Given the description of an element on the screen output the (x, y) to click on. 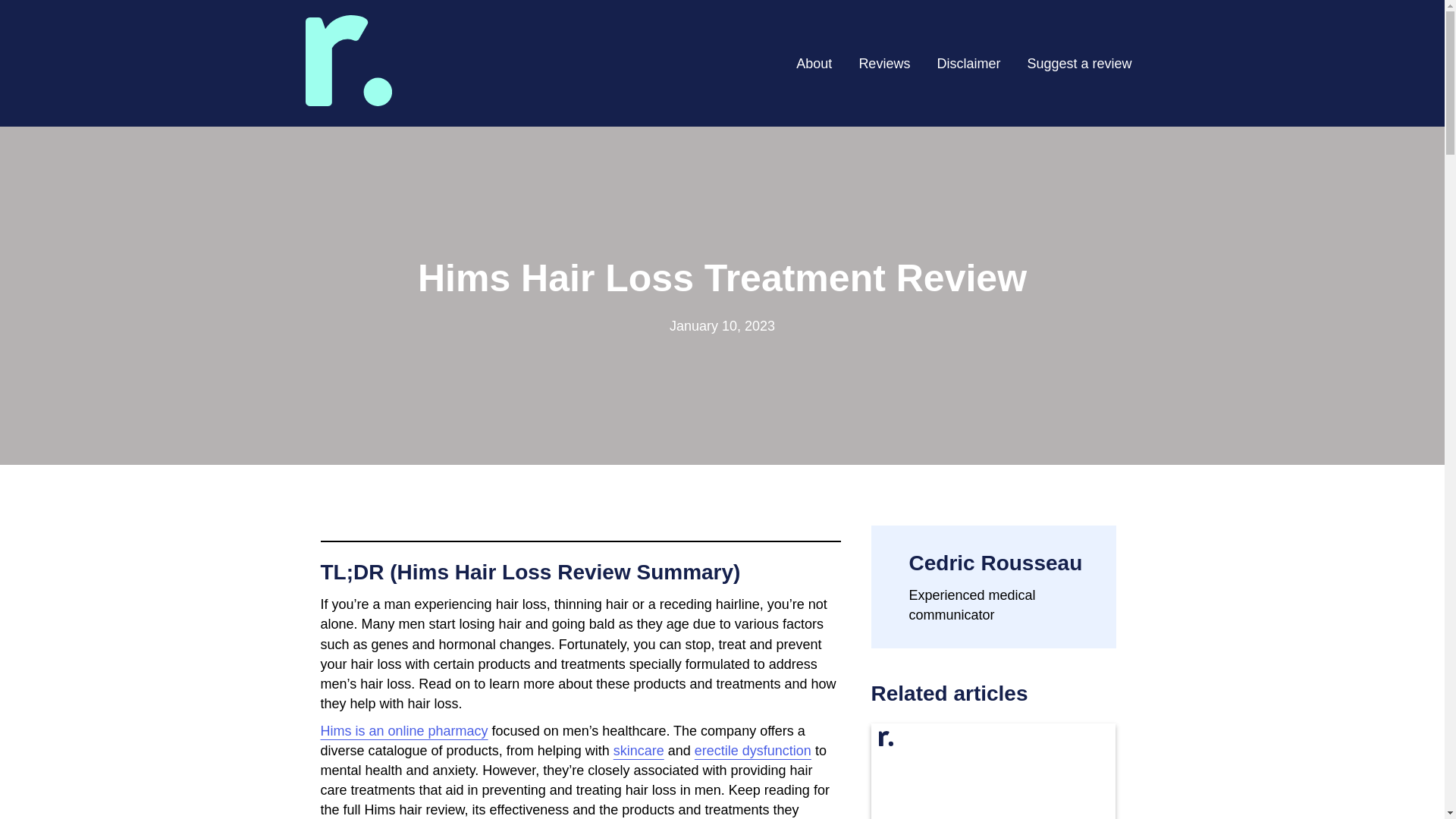
Healthcare reviews logo (347, 60)
Reviews (883, 62)
Suggest a review (1078, 62)
skincare (637, 750)
About (814, 62)
erectile dysfunction (752, 750)
Disclaimer (967, 62)
Hims is an online pharmacy (403, 730)
Healthcare reviews logo (347, 101)
